Given the description of an element on the screen output the (x, y) to click on. 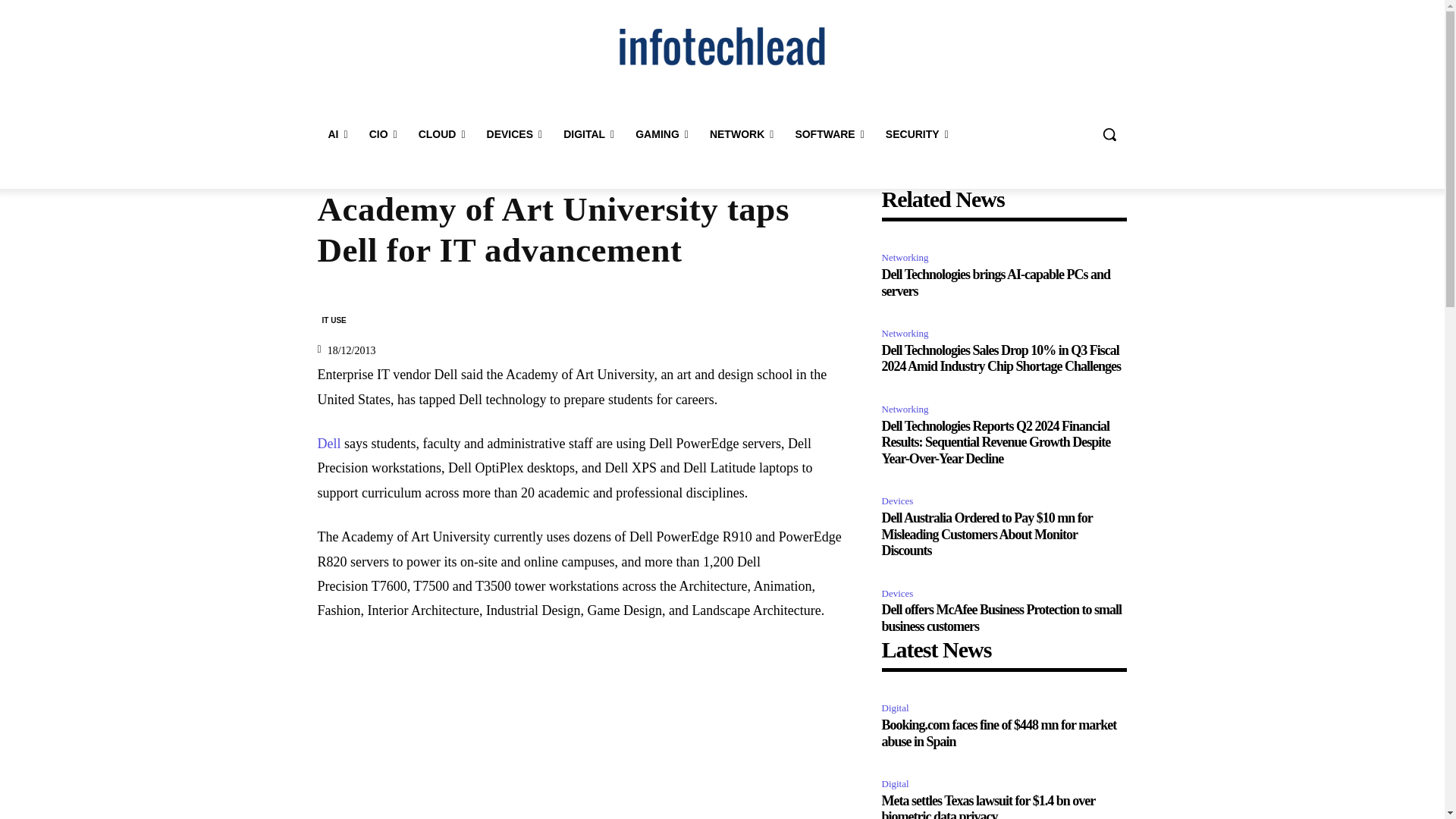
CIO (382, 134)
AI (337, 134)
